Given the description of an element on the screen output the (x, y) to click on. 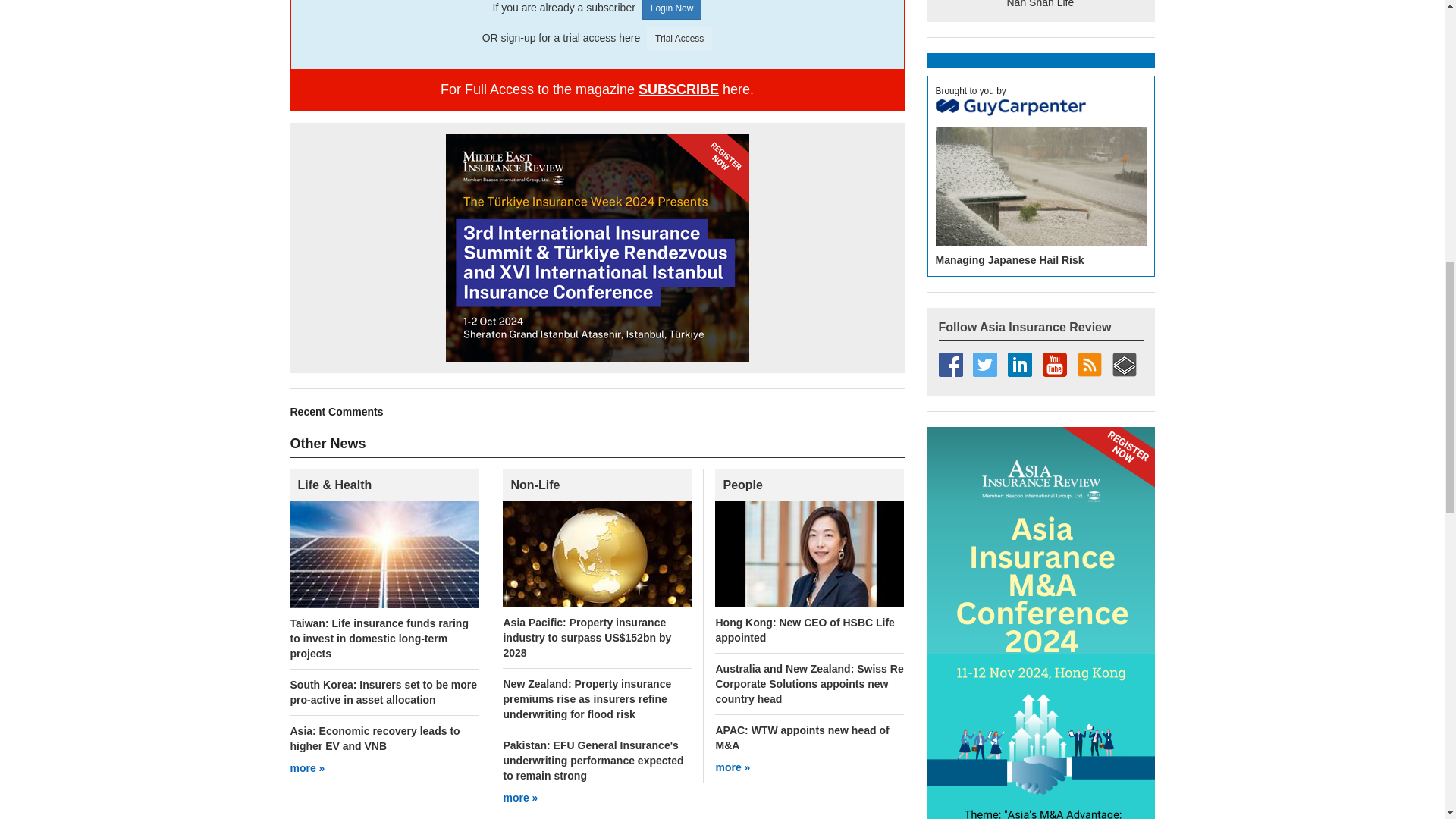
Login Now (671, 9)
Trial Access (678, 38)
